Given the description of an element on the screen output the (x, y) to click on. 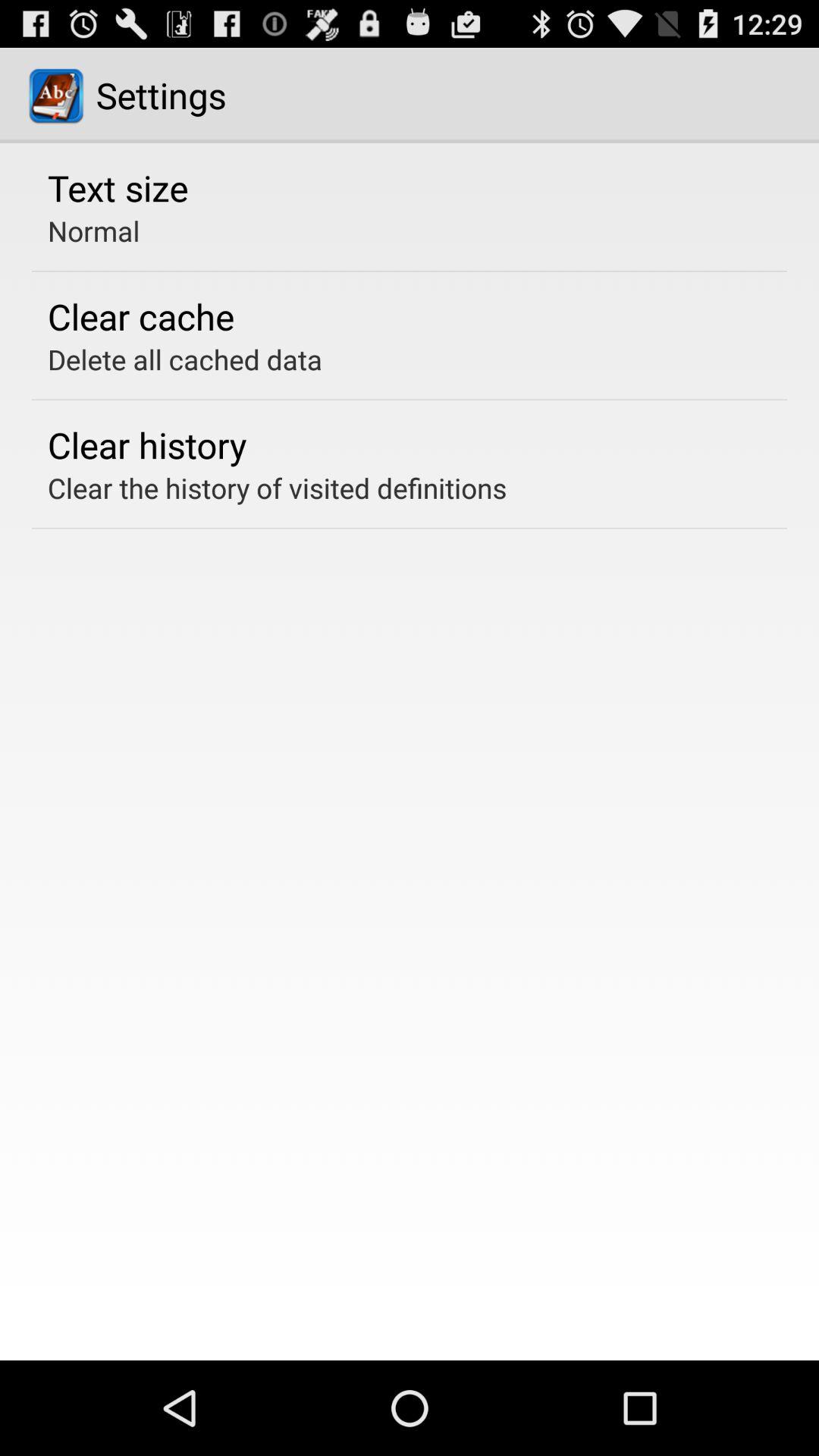
jump to clear cache (140, 316)
